Given the description of an element on the screen output the (x, y) to click on. 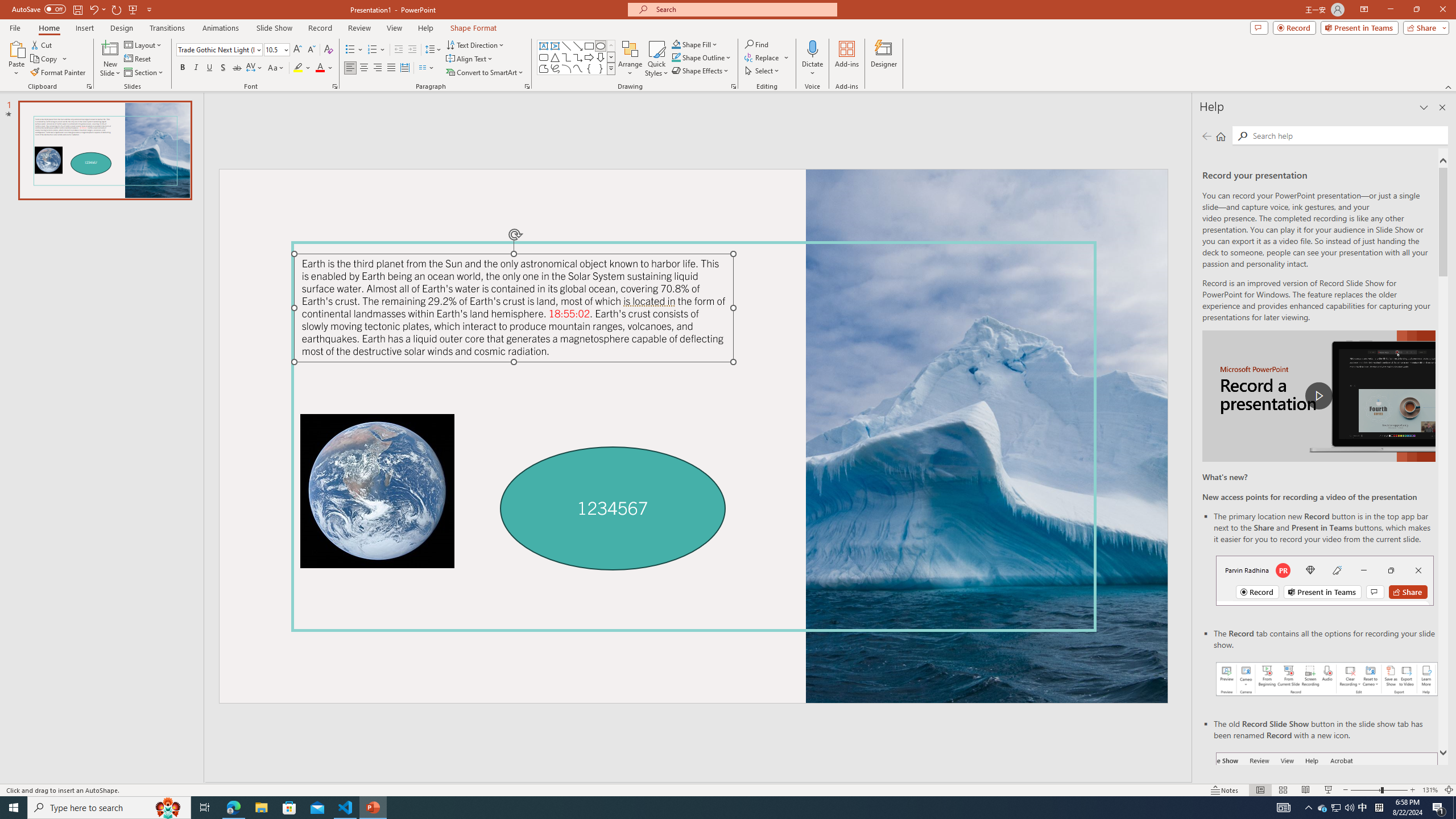
Shapes (611, 68)
Cut (42, 44)
Record your presentations screenshot one (1326, 678)
Arc (566, 68)
From Beginning (133, 9)
Connector: Elbow Arrow (577, 57)
Shape Effects (700, 69)
Close pane (1441, 107)
Numbering (372, 49)
Align Text (470, 58)
Microsoft search (742, 9)
Clear Formatting (327, 49)
